Given the description of an element on the screen output the (x, y) to click on. 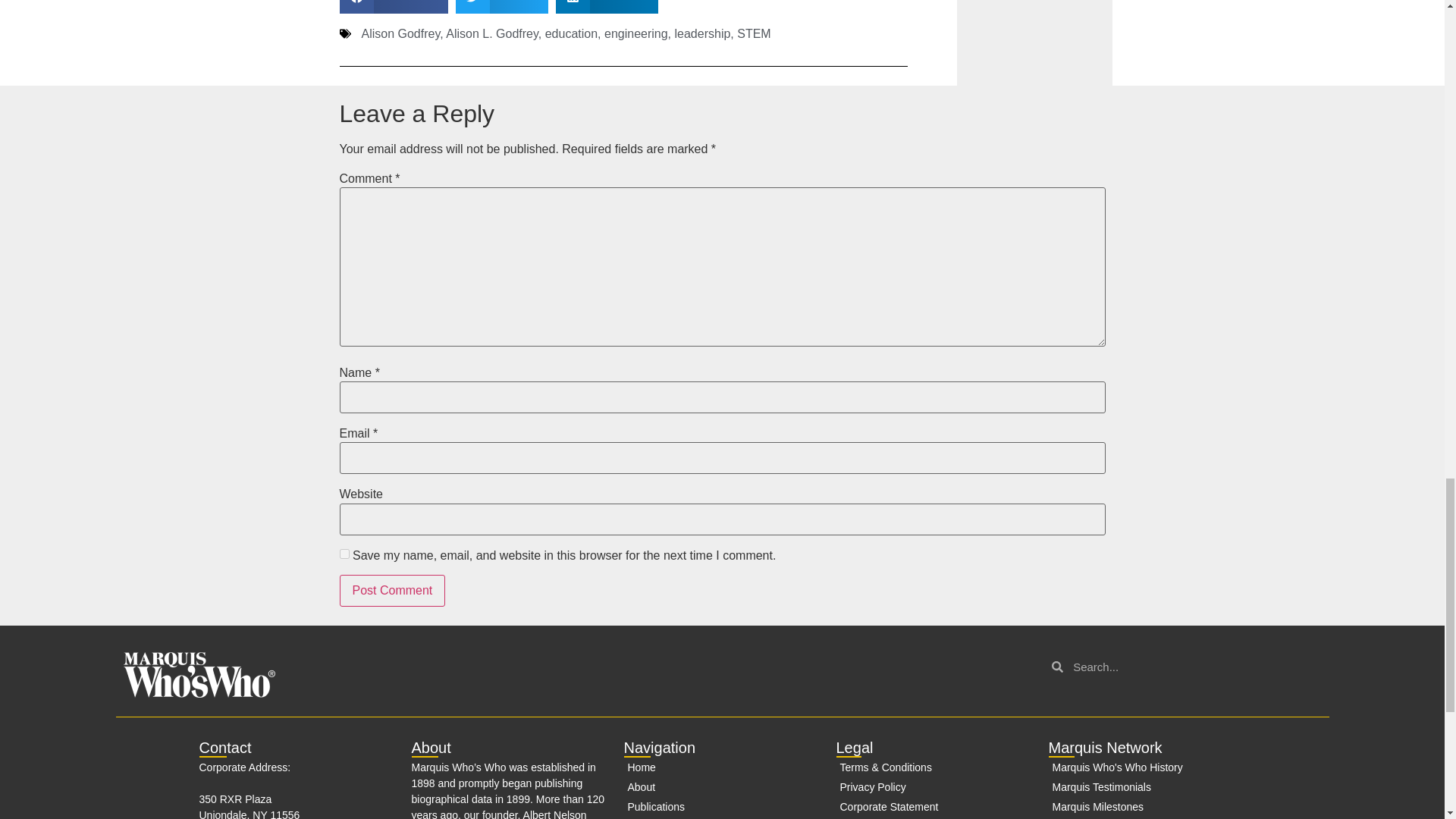
Post Comment (392, 590)
Alison Godfrey (400, 33)
leadership (702, 33)
yes (344, 553)
engineering (636, 33)
Alison L. Godfrey (491, 33)
STEM (753, 33)
education (570, 33)
Post Comment (392, 590)
